Given the description of an element on the screen output the (x, y) to click on. 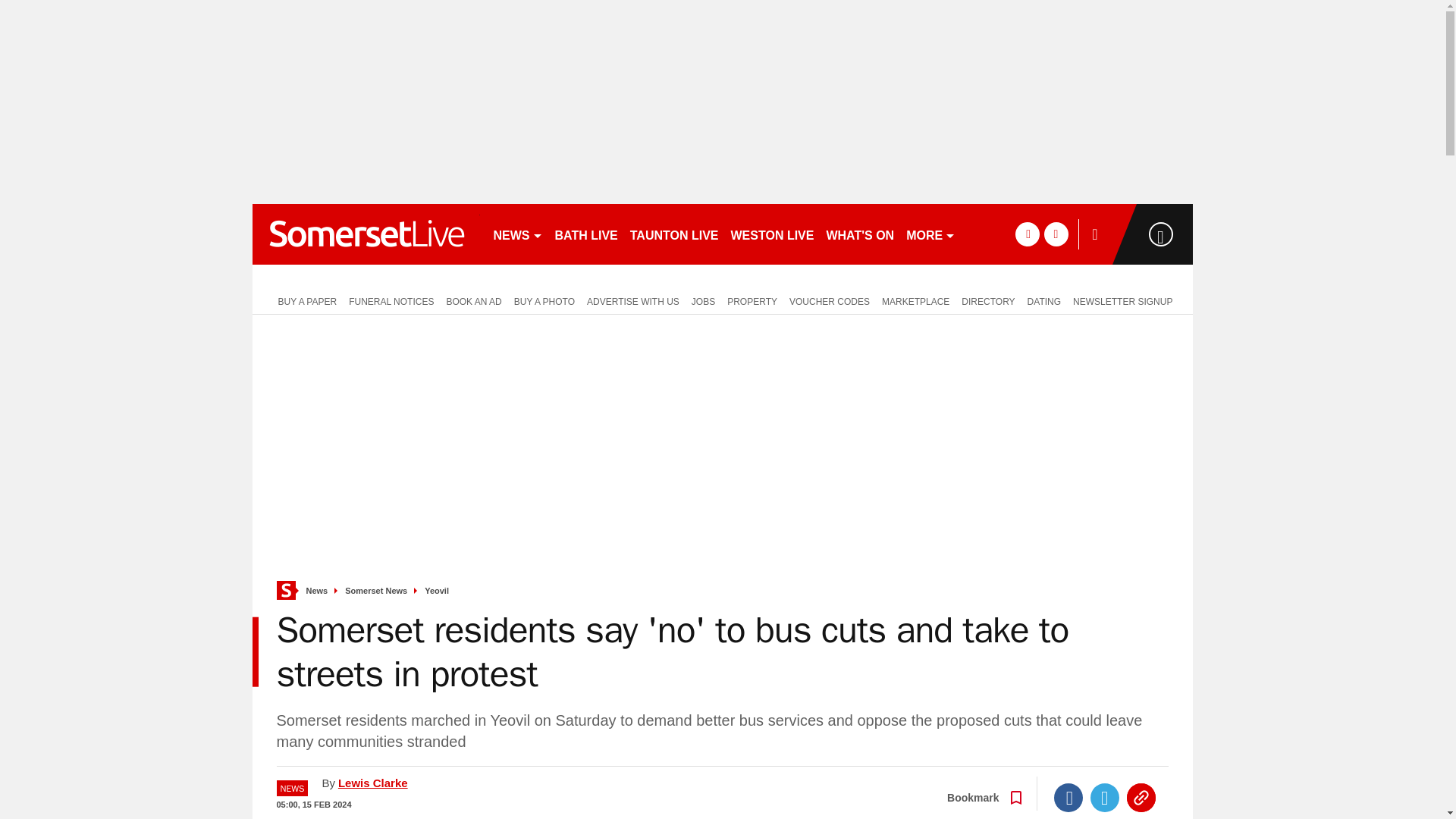
BATH LIVE (586, 233)
Facebook (1068, 797)
WHAT'S ON (859, 233)
facebook (1026, 233)
twitter (1055, 233)
somersetlive (365, 233)
TAUNTON LIVE (674, 233)
MORE (929, 233)
NEWS (517, 233)
Twitter (1104, 797)
